Given the description of an element on the screen output the (x, y) to click on. 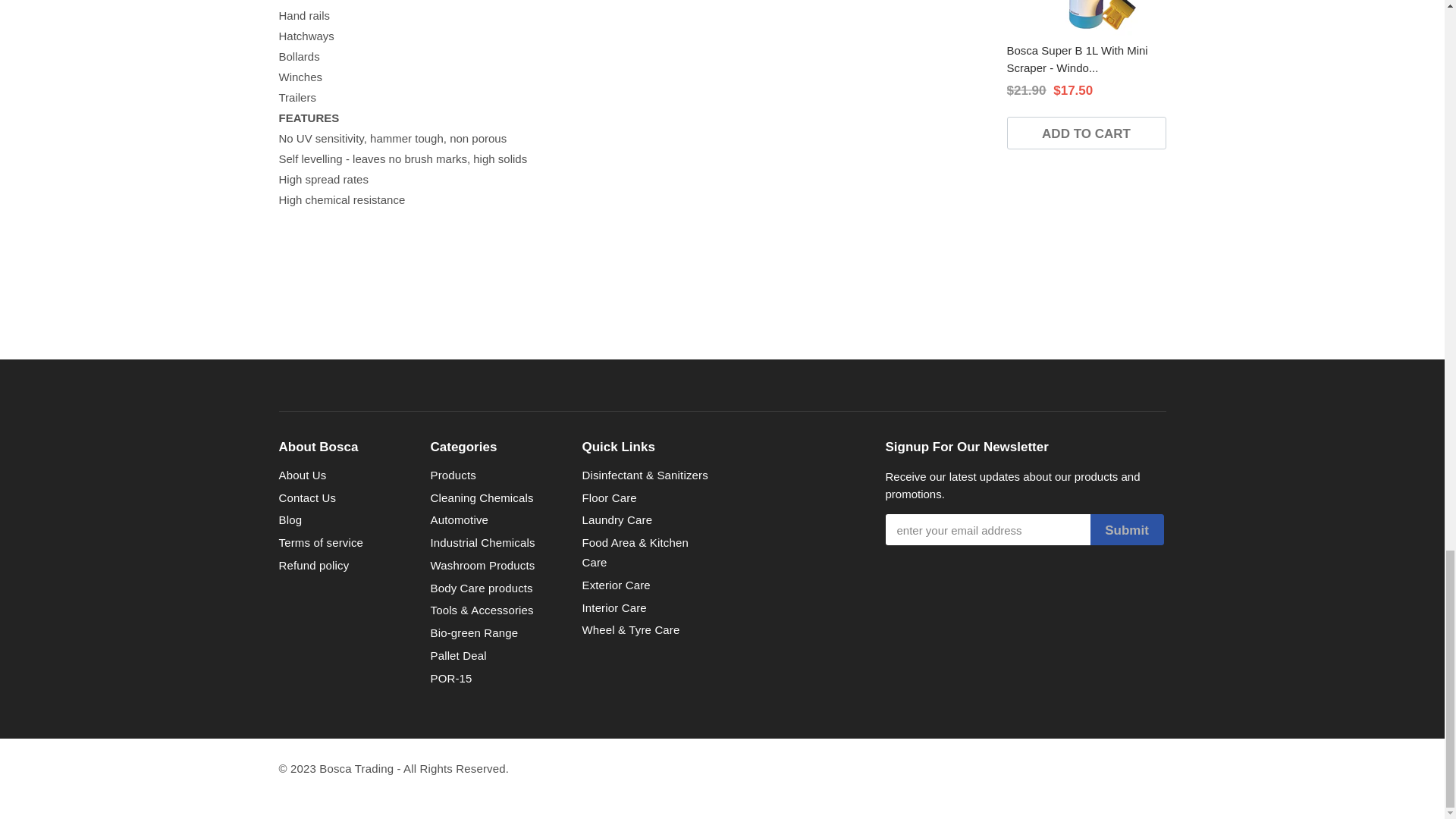
Submit (1126, 529)
